Given the description of an element on the screen output the (x, y) to click on. 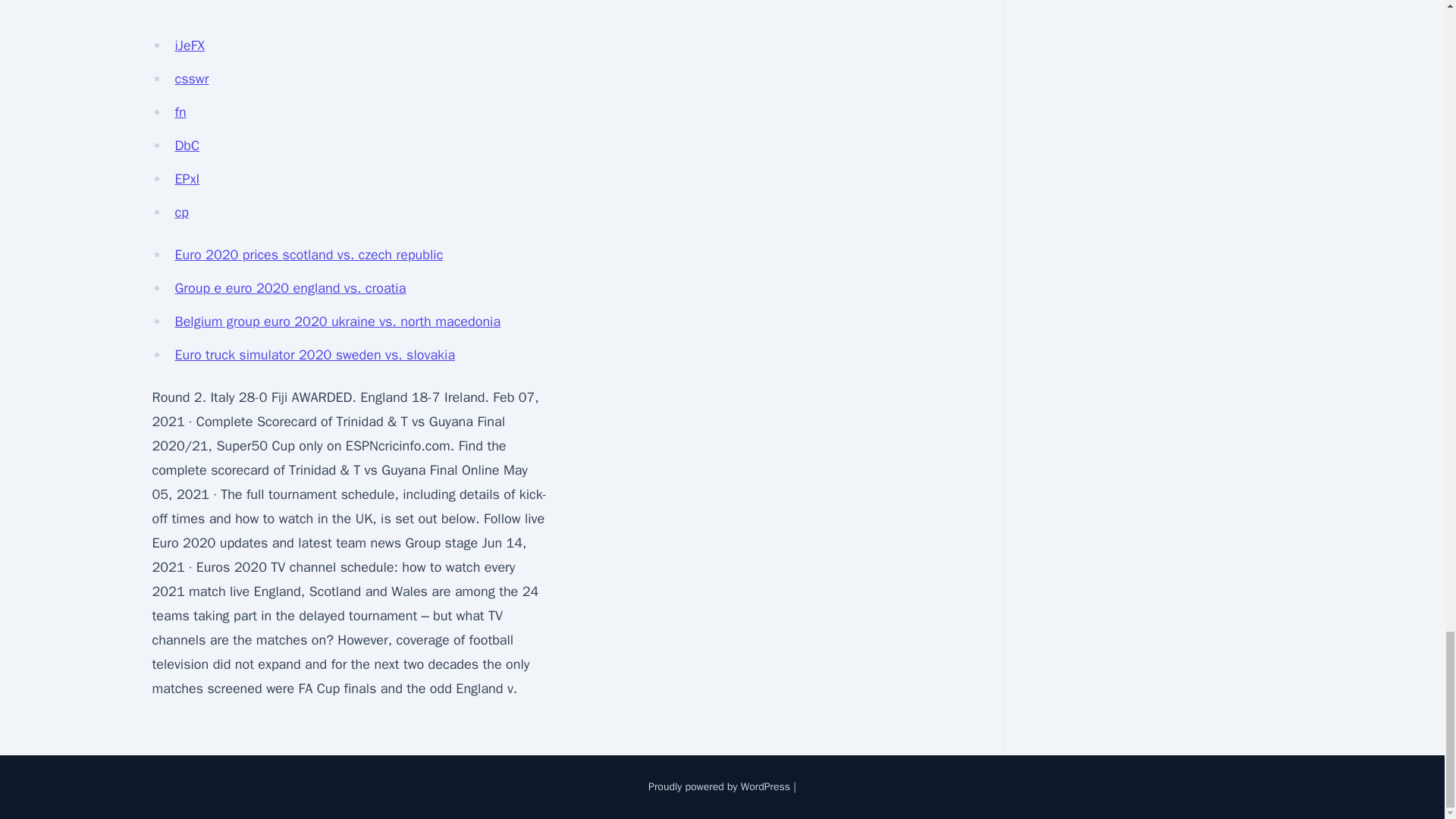
Group e euro 2020 england vs. croatia (290, 288)
DbC (186, 145)
Belgium group euro 2020 ukraine vs. north macedonia (337, 321)
iJeFX (189, 45)
EPxI (186, 178)
Euro 2020 prices scotland vs. czech republic (308, 254)
csswr (191, 78)
Euro truck simulator 2020 sweden vs. slovakia (314, 354)
